Given the description of an element on the screen output the (x, y) to click on. 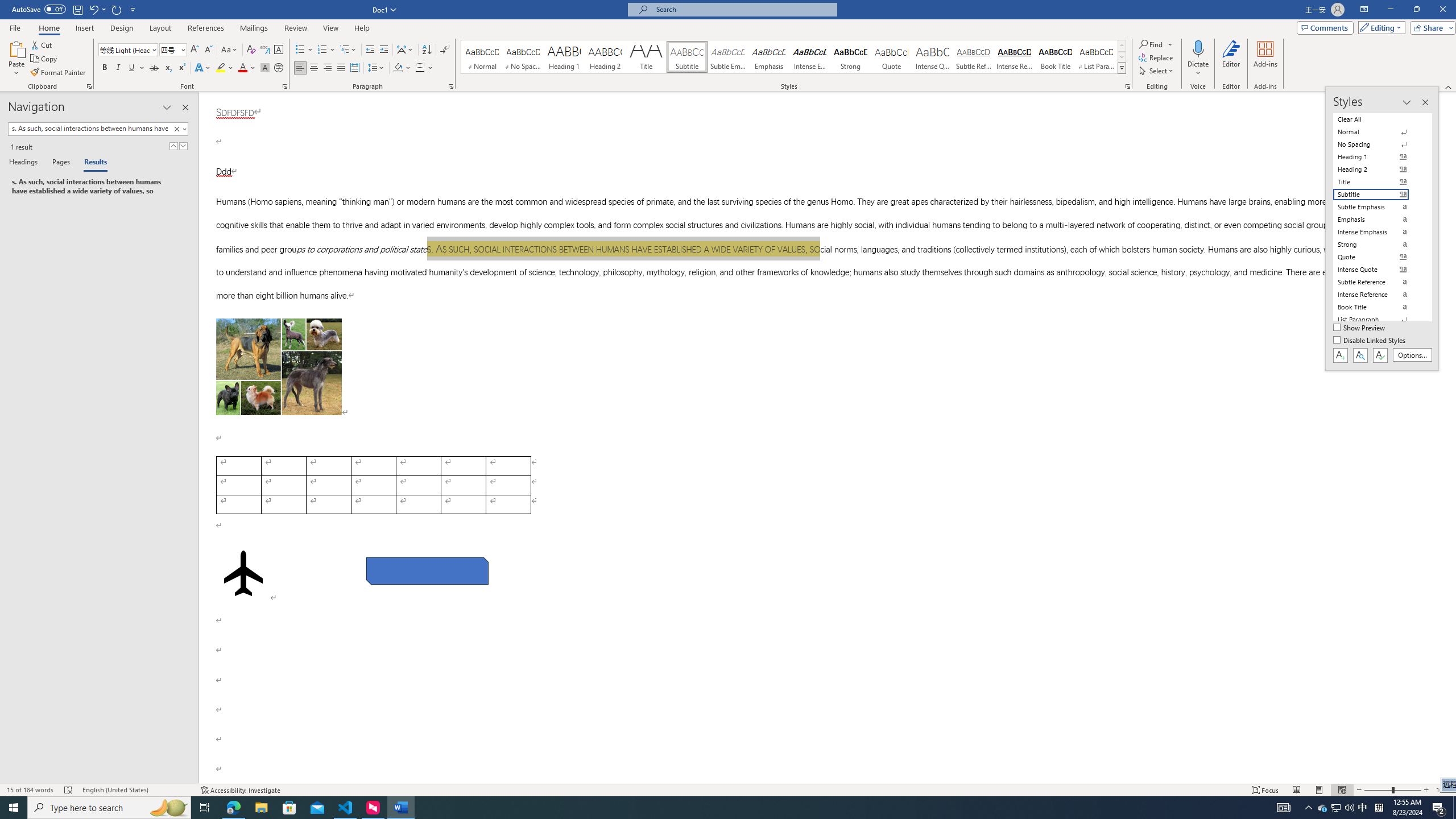
Subtle Emphasis (727, 56)
Rectangle: Diagonal Corners Snipped 2 (427, 570)
Asian Layout (405, 49)
System (6, 6)
Restore Down (1416, 9)
Italic (118, 67)
Row up (1121, 45)
Design (122, 28)
Character Border (278, 49)
Font... (285, 85)
Heading 1 (564, 56)
Font Color (246, 67)
Class: NetUIButton (1380, 355)
Pages (59, 162)
Justify (340, 67)
